Given the description of an element on the screen output the (x, y) to click on. 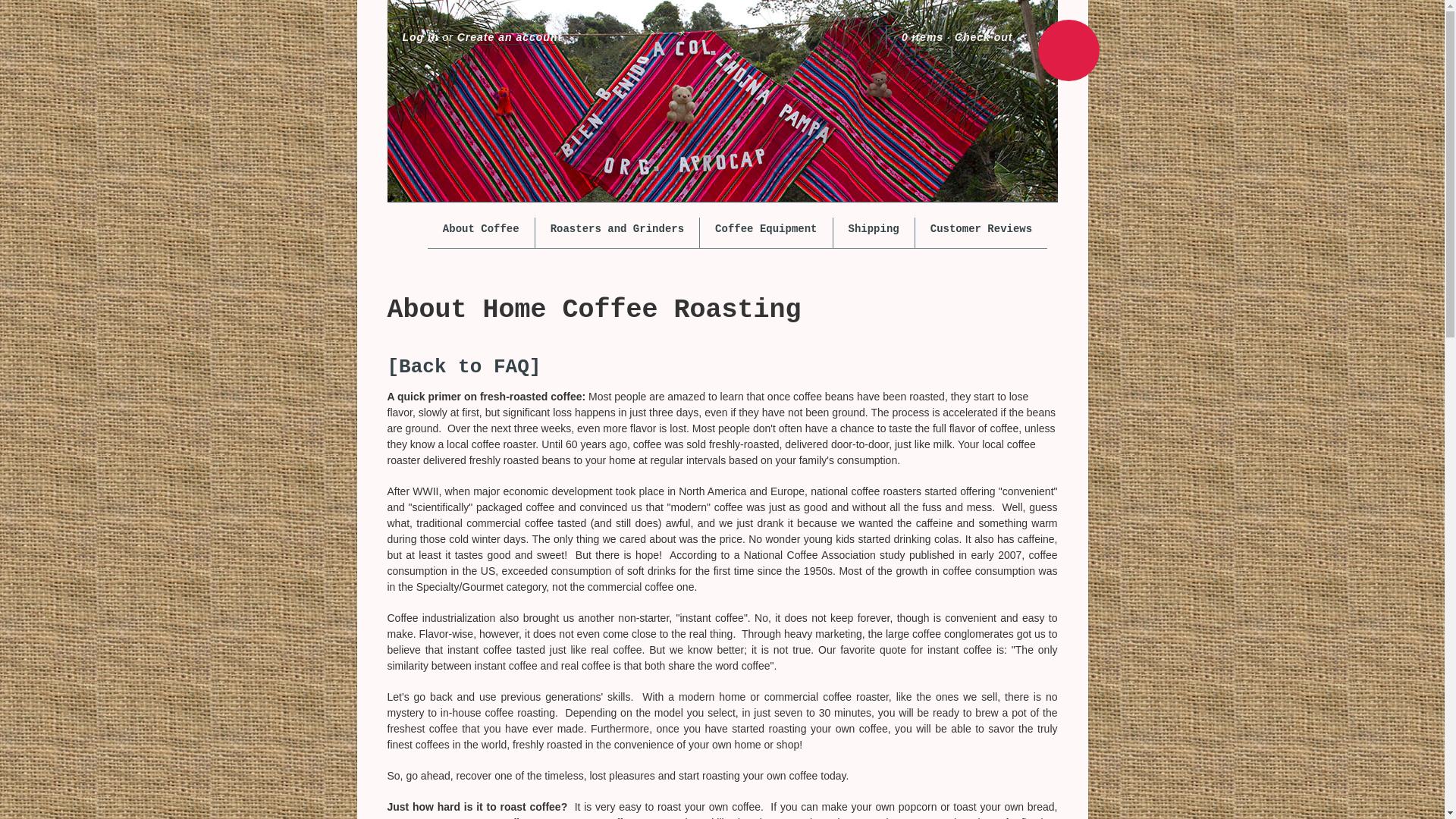
Log in (419, 38)
Coffee Equipment (765, 229)
Shipping (873, 229)
Customer Reviews (981, 229)
About Coffee (480, 229)
Check out (984, 38)
Create an account (509, 38)
Roasters and Grinders (617, 229)
0 items (922, 37)
